Given the description of an element on the screen output the (x, y) to click on. 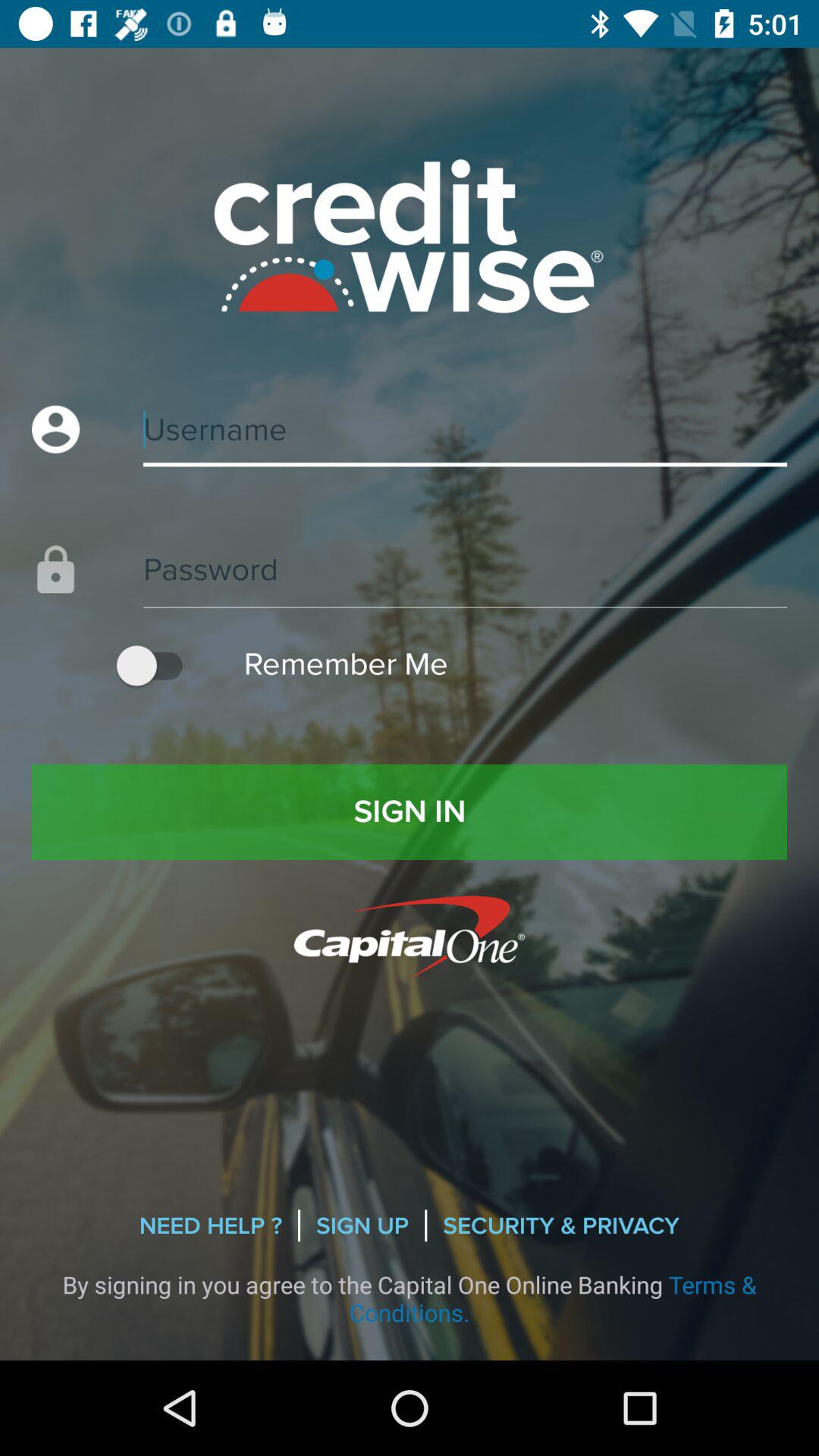
jump until security & privacy icon (561, 1225)
